Given the description of an element on the screen output the (x, y) to click on. 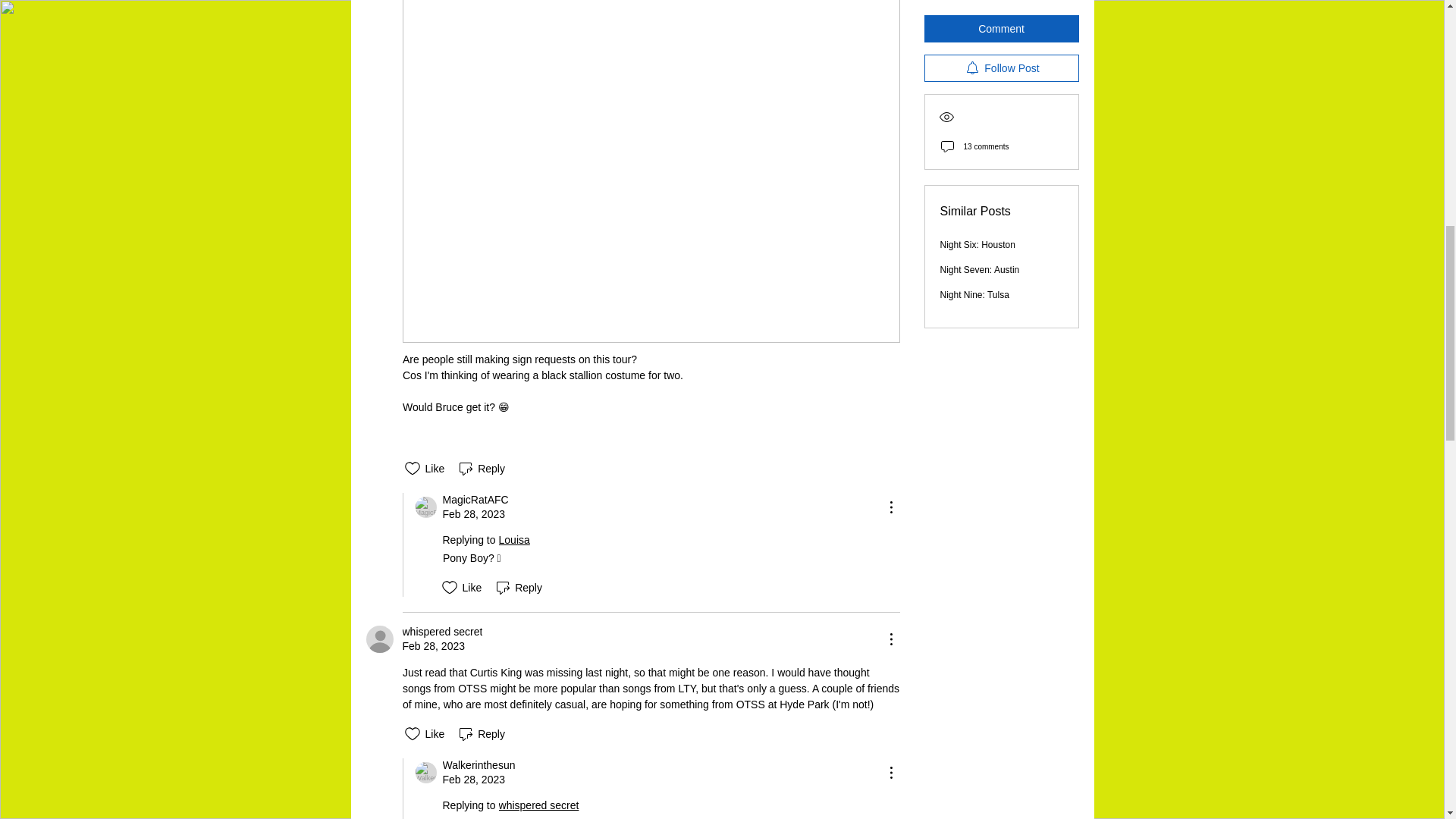
MagicRatAFC (475, 499)
Louisa (515, 540)
Reply (481, 733)
MagicRatAFC (425, 506)
Reply (517, 587)
Walkerinthesun (425, 772)
Reply (481, 468)
whispered secret (441, 631)
Walkerinthesun (478, 765)
